Given the description of an element on the screen output the (x, y) to click on. 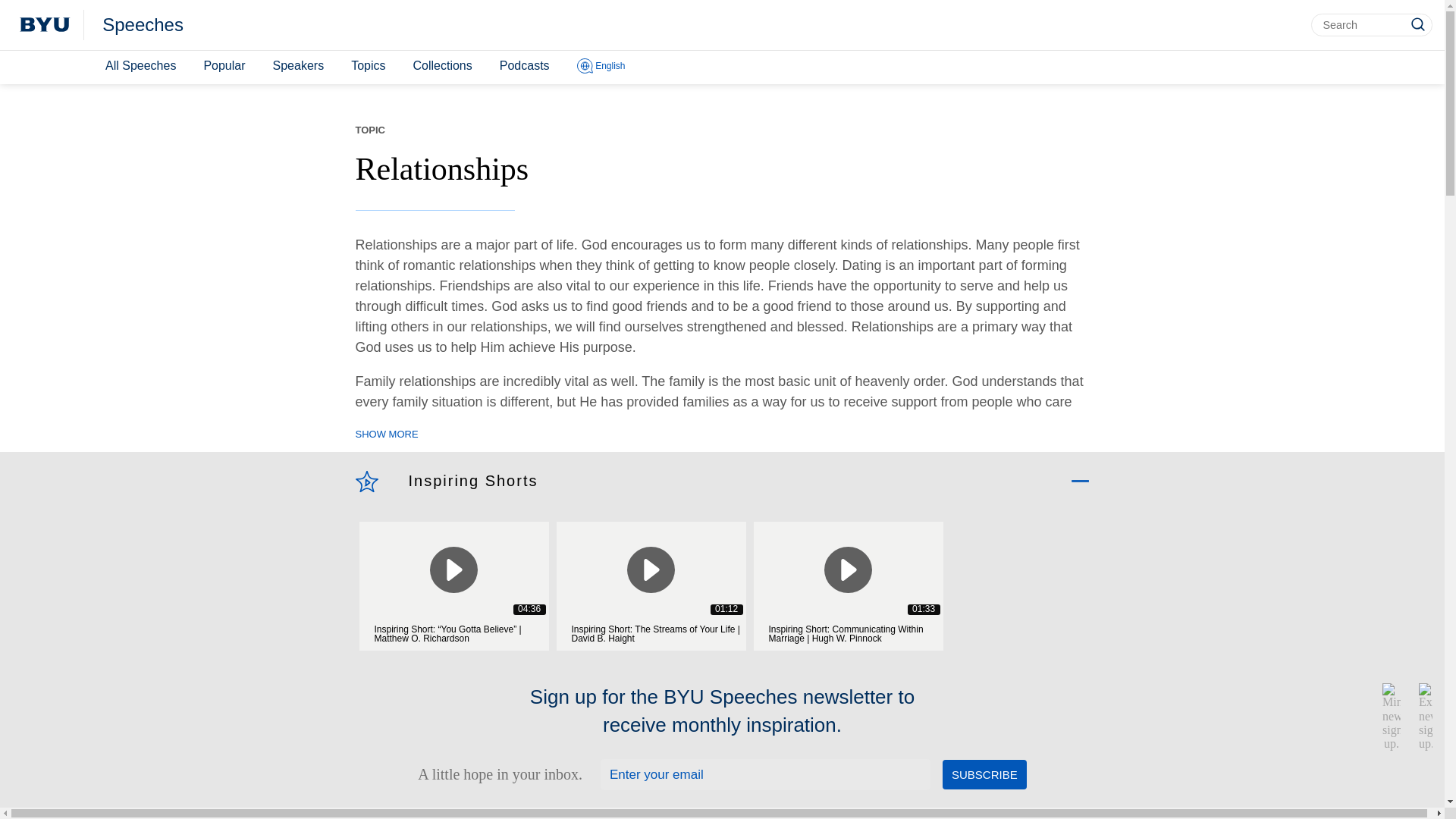
English (600, 67)
Topics (368, 65)
AMY PETERSEN JENSEN (552, 805)
Inspiring Shorts (472, 480)
Collections (441, 65)
Popular (223, 65)
All Speeches (140, 65)
Subscribe (984, 774)
Speeches (142, 25)
SHOW MORE (386, 434)
